Given the description of an element on the screen output the (x, y) to click on. 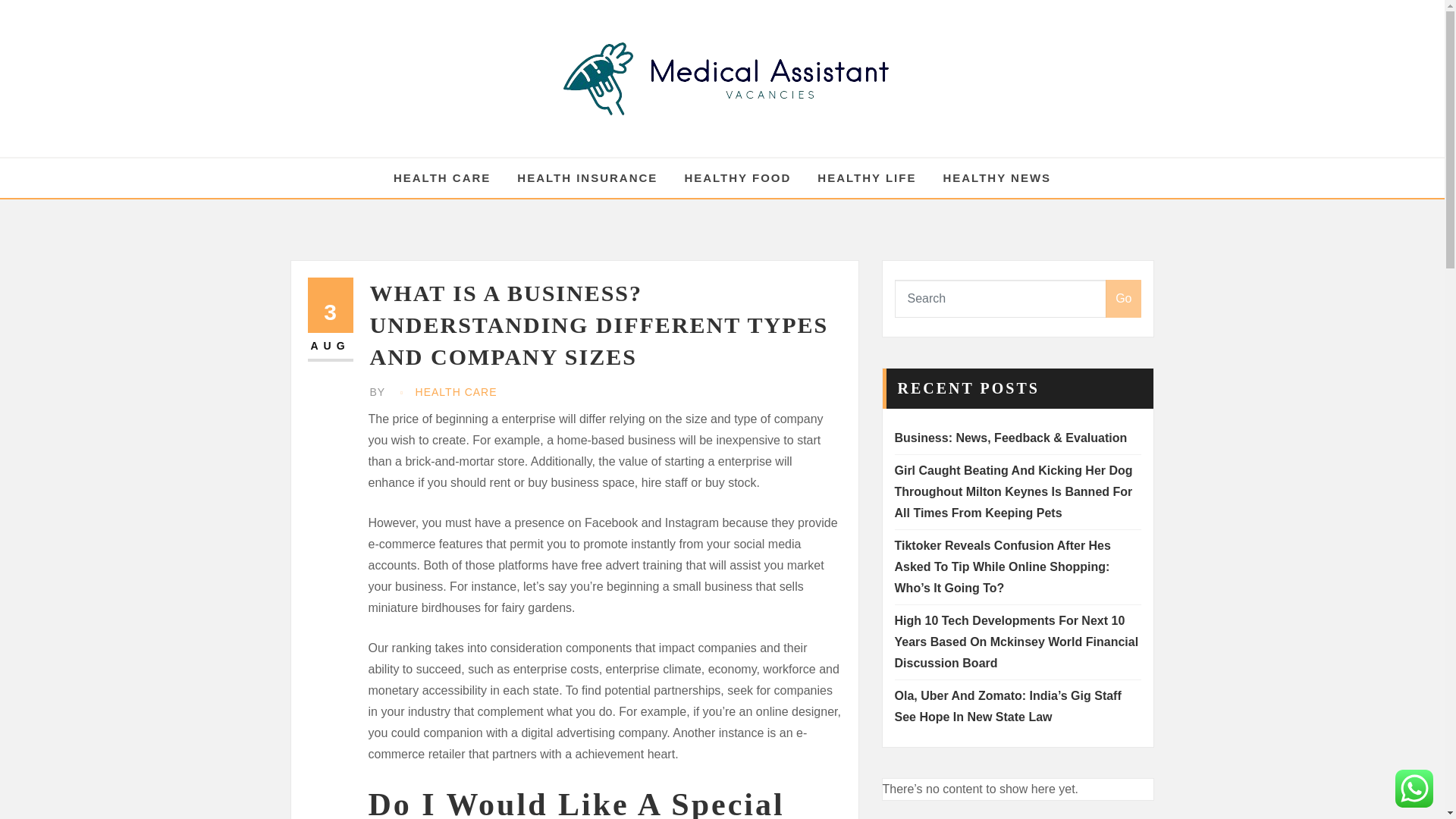
HEALTHY FOOD (737, 178)
BY (379, 392)
HEALTH CARE (455, 392)
HEALTH CARE (441, 178)
HEALTHY LIFE (865, 178)
Go (330, 319)
HEALTH INSURANCE (1123, 298)
HEALTHY NEWS (587, 178)
